Given the description of an element on the screen output the (x, y) to click on. 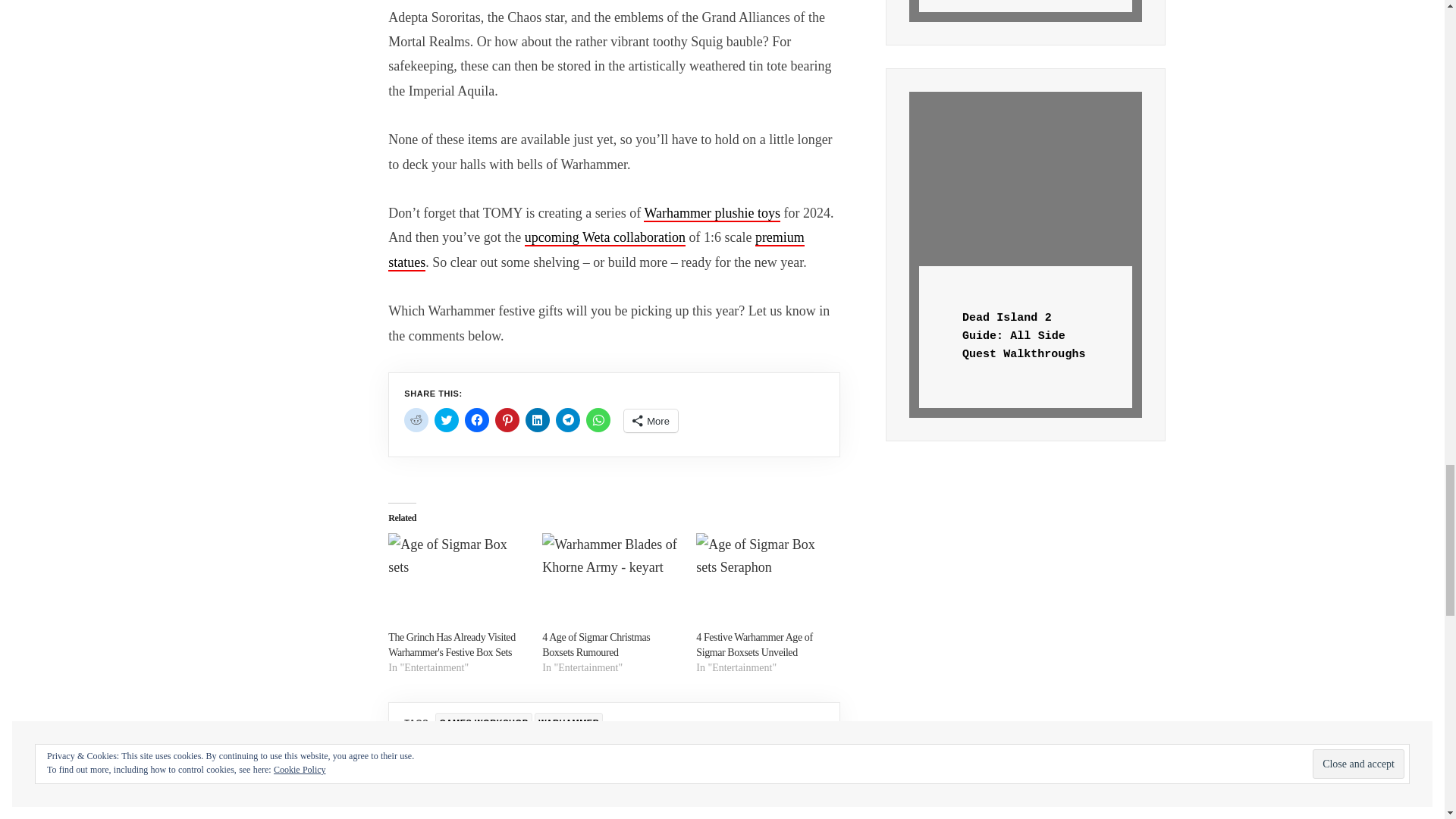
premium statues (596, 250)
Warhammer plushie toys (711, 213)
upcoming Weta collaboration (604, 238)
